Given the description of an element on the screen output the (x, y) to click on. 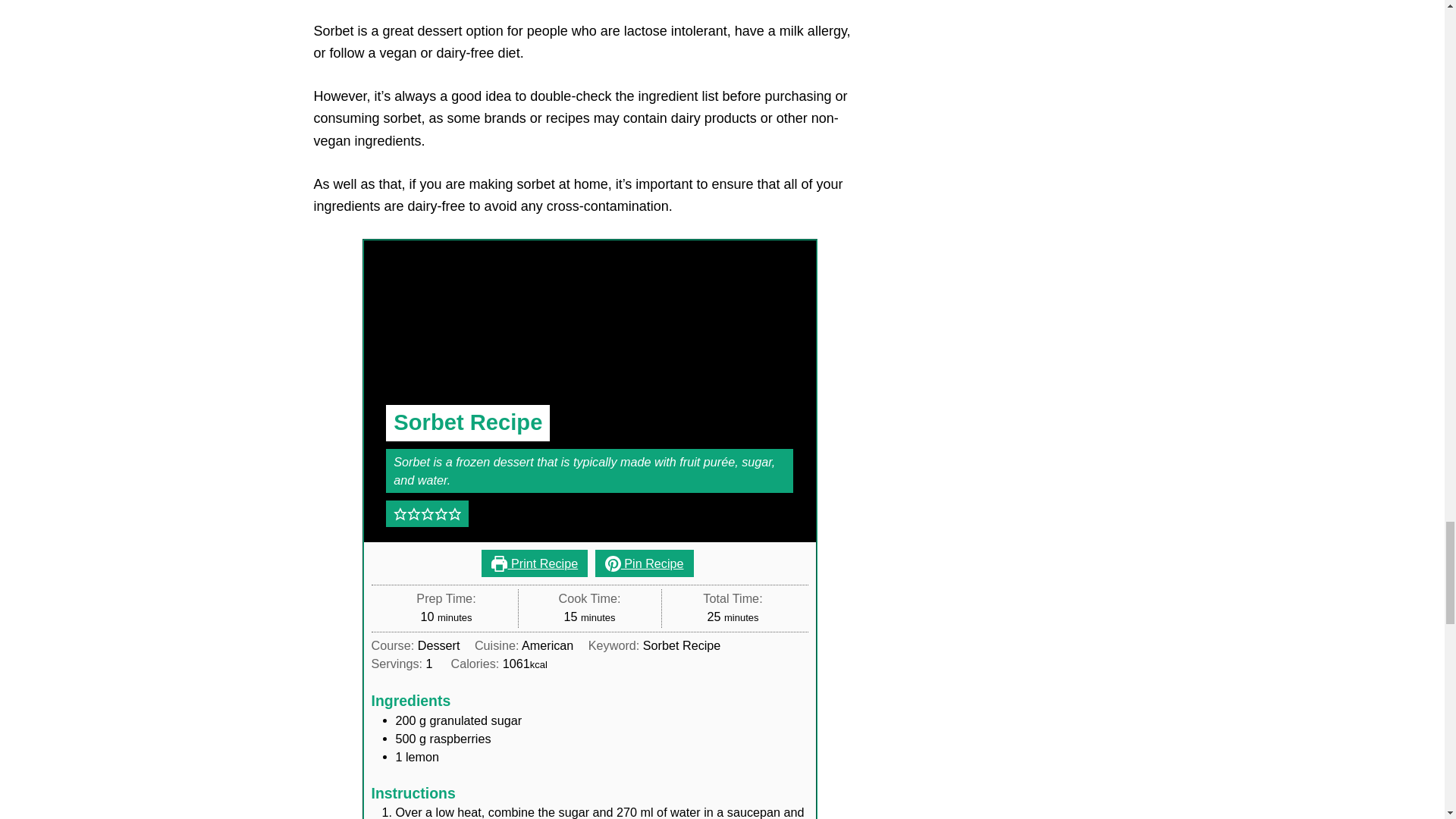
Print Recipe (534, 563)
Pin Recipe (644, 563)
